Given the description of an element on the screen output the (x, y) to click on. 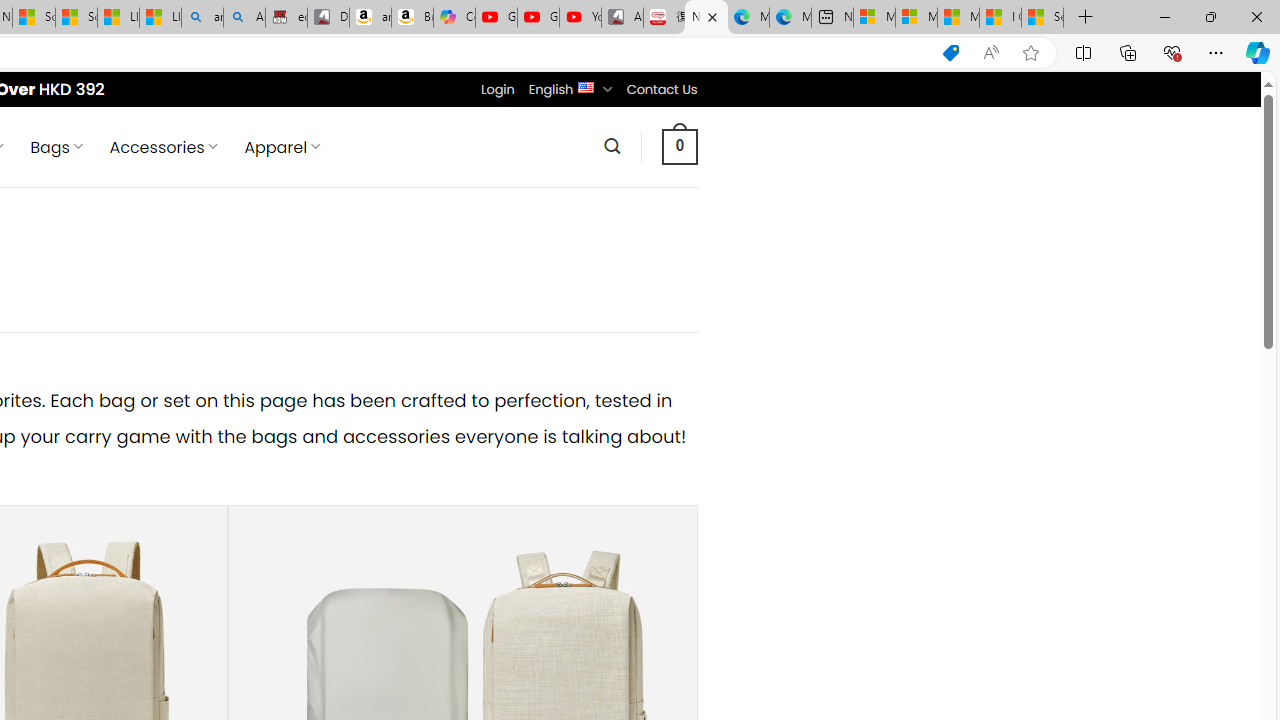
Nordace - Best Sellers (706, 17)
English (586, 86)
I Gained 20 Pounds of Muscle in 30 Days! | Watch (1000, 17)
